Given the description of an element on the screen output the (x, y) to click on. 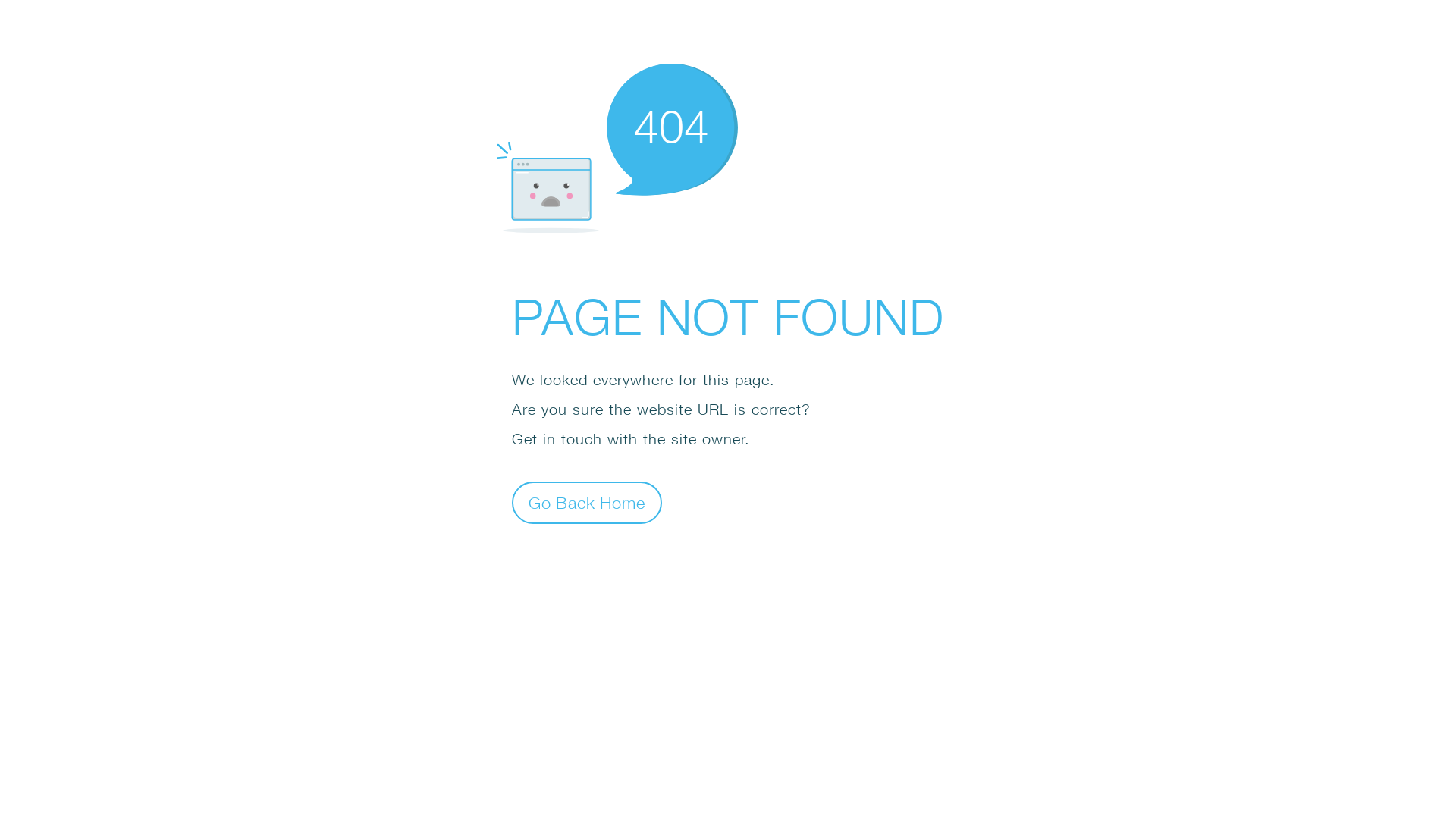
Go Back Home Element type: text (586, 502)
